Given the description of an element on the screen output the (x, y) to click on. 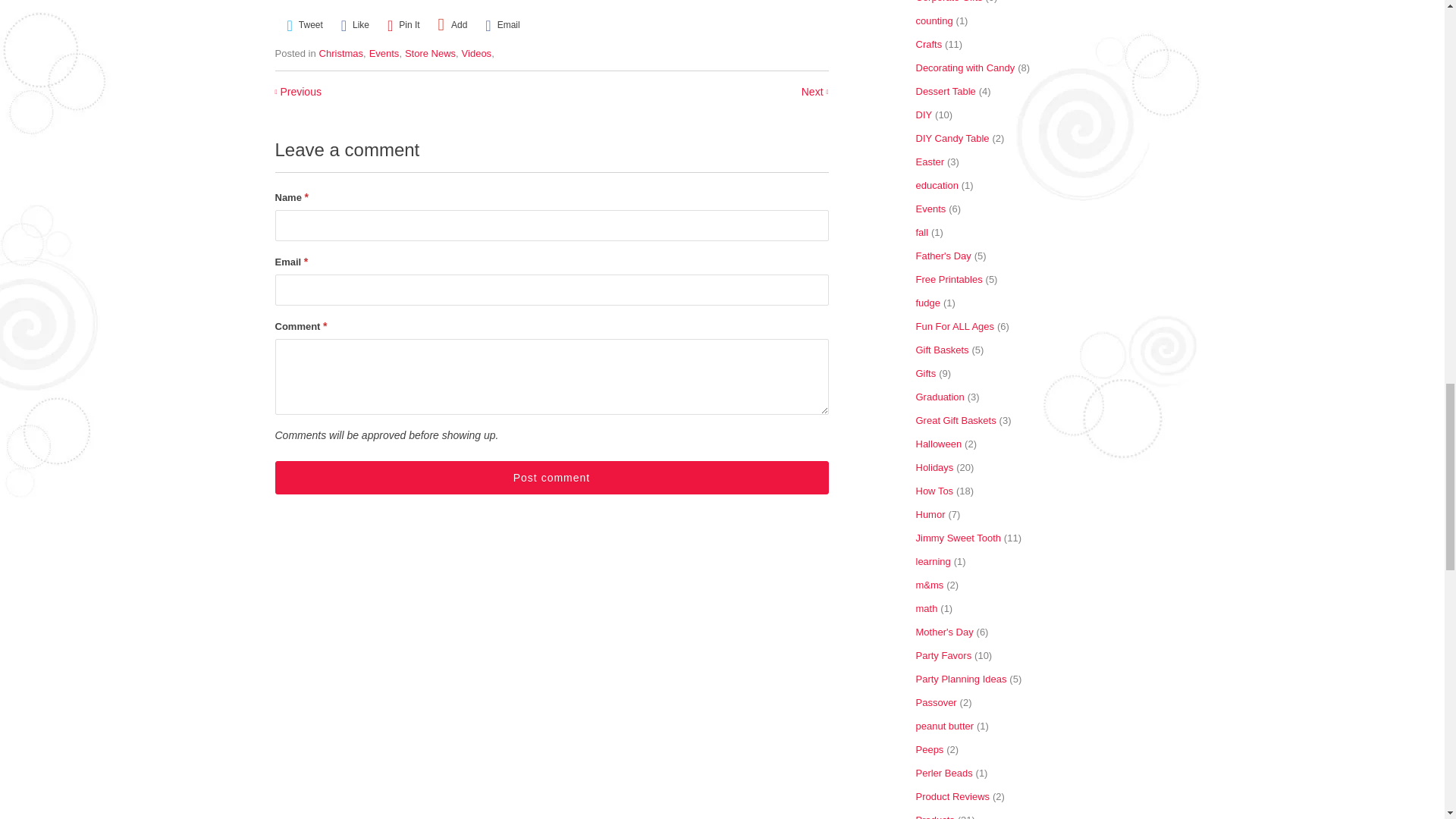
Share this on Pinterest (403, 25)
Sweet Thoughts from All City Candy tagged Videos (476, 52)
Sweet Thoughts from All City Candy tagged Christmas (341, 52)
Post comment (551, 477)
Email this to a friend (502, 25)
Sweet Thoughts from All City Candy tagged Events (383, 52)
Sweet Thoughts from All City Candy tagged Store News (429, 52)
Share this on Facebook (355, 25)
Share this on Twitter (304, 25)
